Given the description of an element on the screen output the (x, y) to click on. 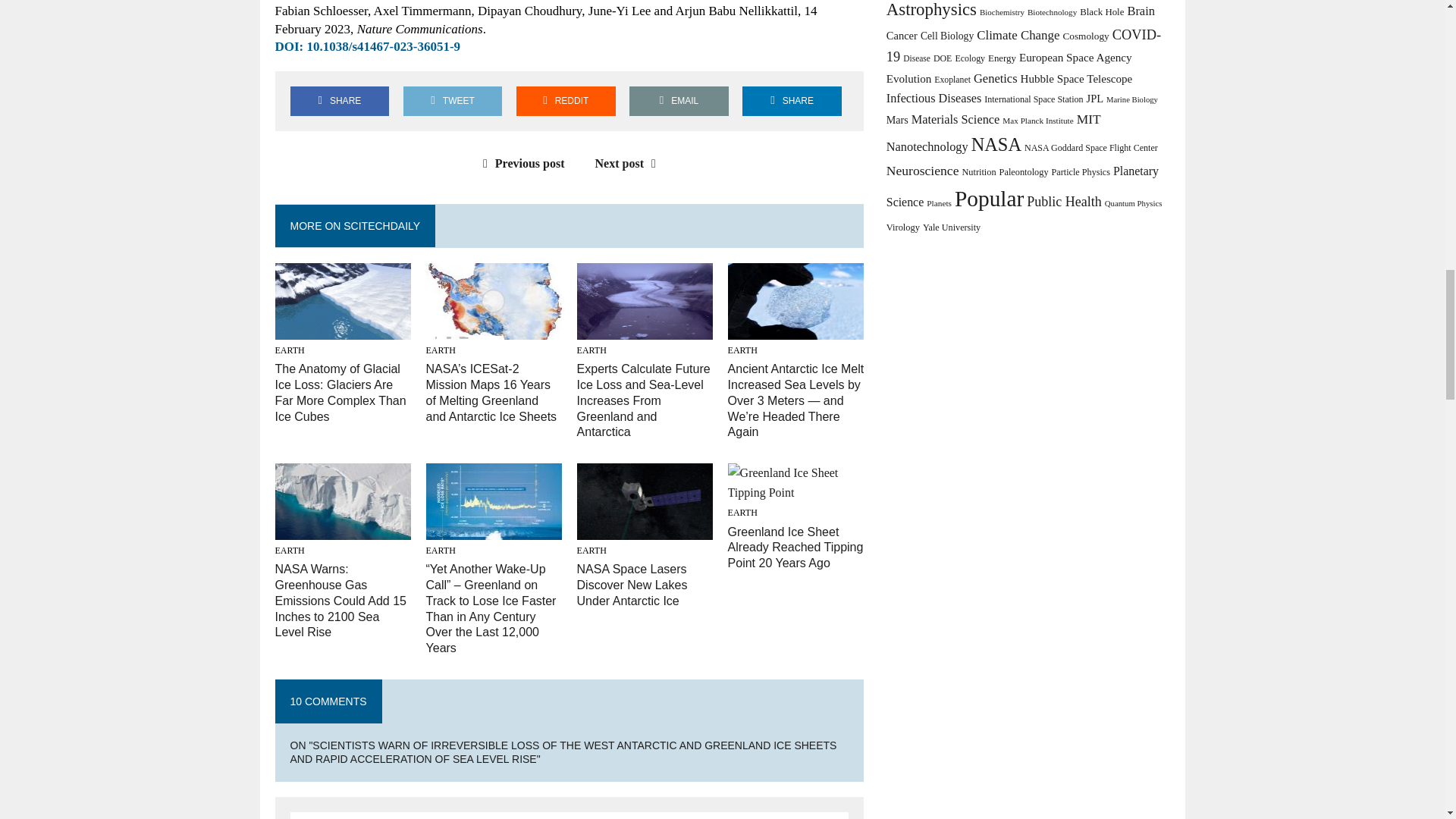
Tweet This Article (452, 101)
Share on LinkedIn (791, 101)
Share on Facebook (338, 101)
Post This Article to Reddit (565, 101)
